Given the description of an element on the screen output the (x, y) to click on. 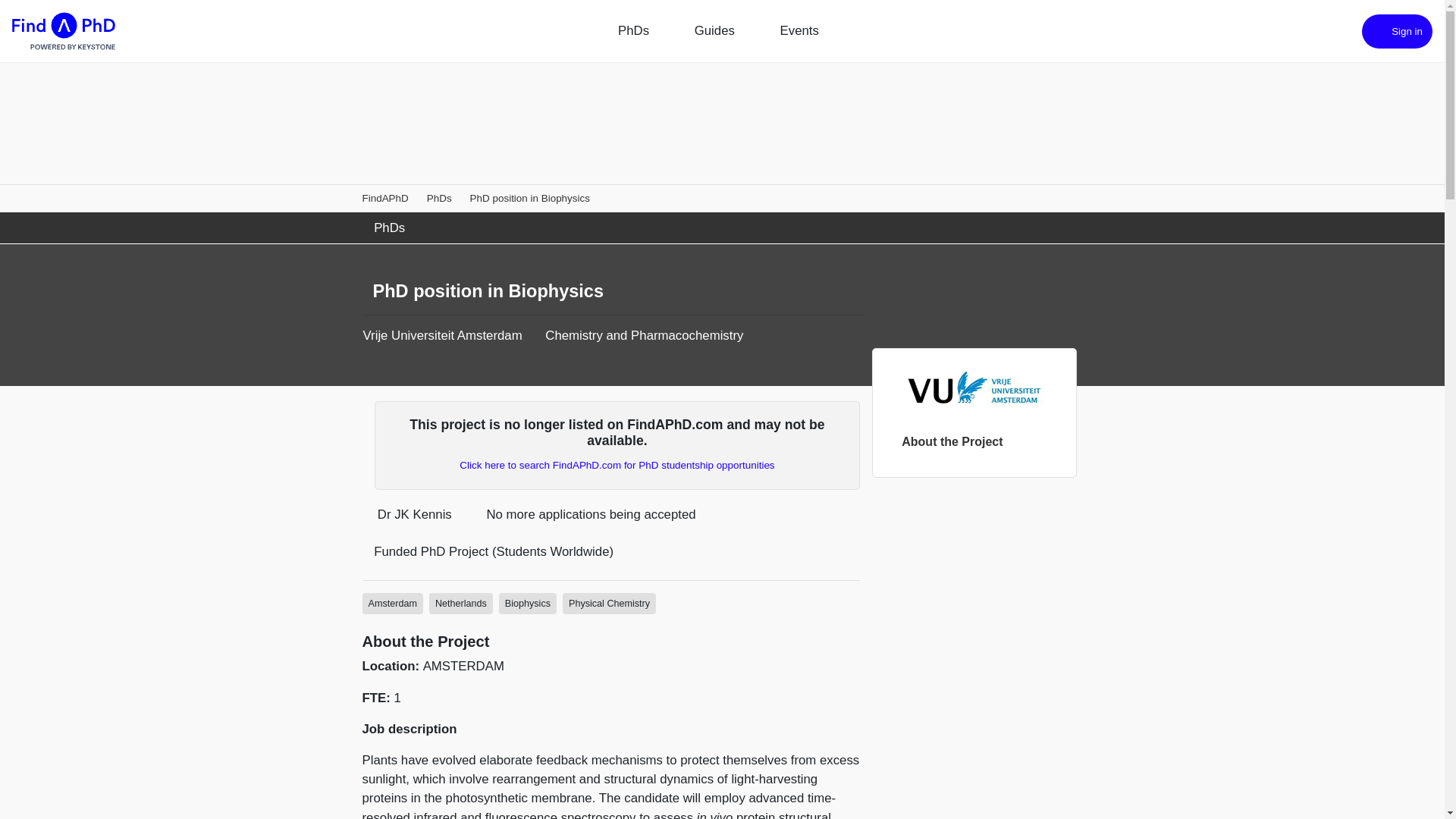
Search all PhDs in Chemistry and Pharmacochemistry  (461, 603)
FindAPhD.com (63, 31)
FindAPhD (385, 197)
Search FindAPhD.com for PhD projects (617, 464)
Search all PhDs in Chemistry and Pharmacochemistry  (392, 603)
View all PhDs at Vrije Universiteit Amsterdam (441, 335)
PhD position in Biophysics, on FindAPhD.com (529, 197)
